Given the description of an element on the screen output the (x, y) to click on. 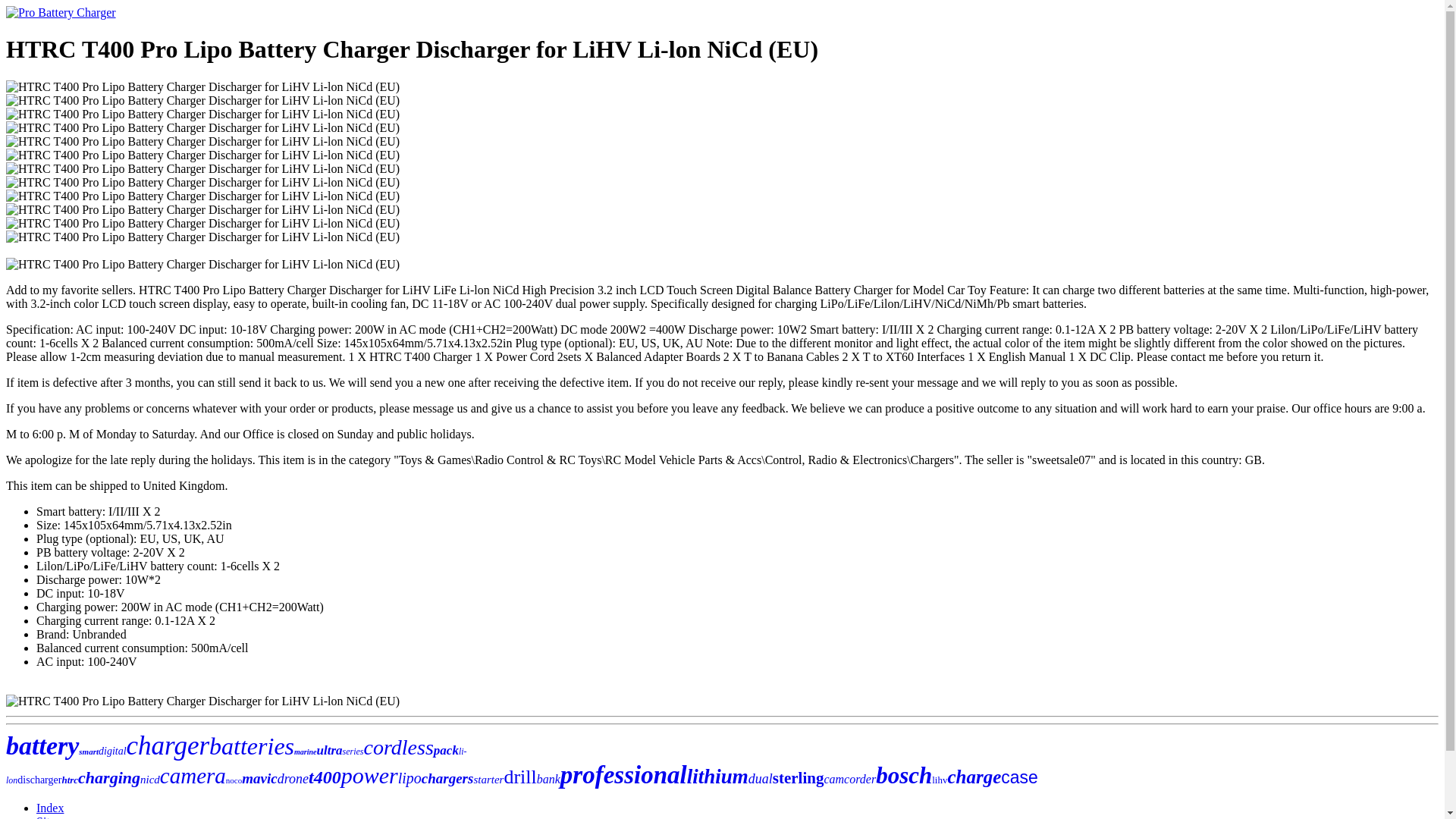
htrc (69, 779)
t400 (324, 777)
battery (41, 746)
li-lon (236, 765)
starter (488, 779)
power (368, 774)
chargers (448, 778)
camera (192, 775)
series (353, 751)
mavic (258, 778)
charger (167, 745)
pack (445, 749)
smart (88, 750)
professional (623, 774)
lithium (717, 775)
